Given the description of an element on the screen output the (x, y) to click on. 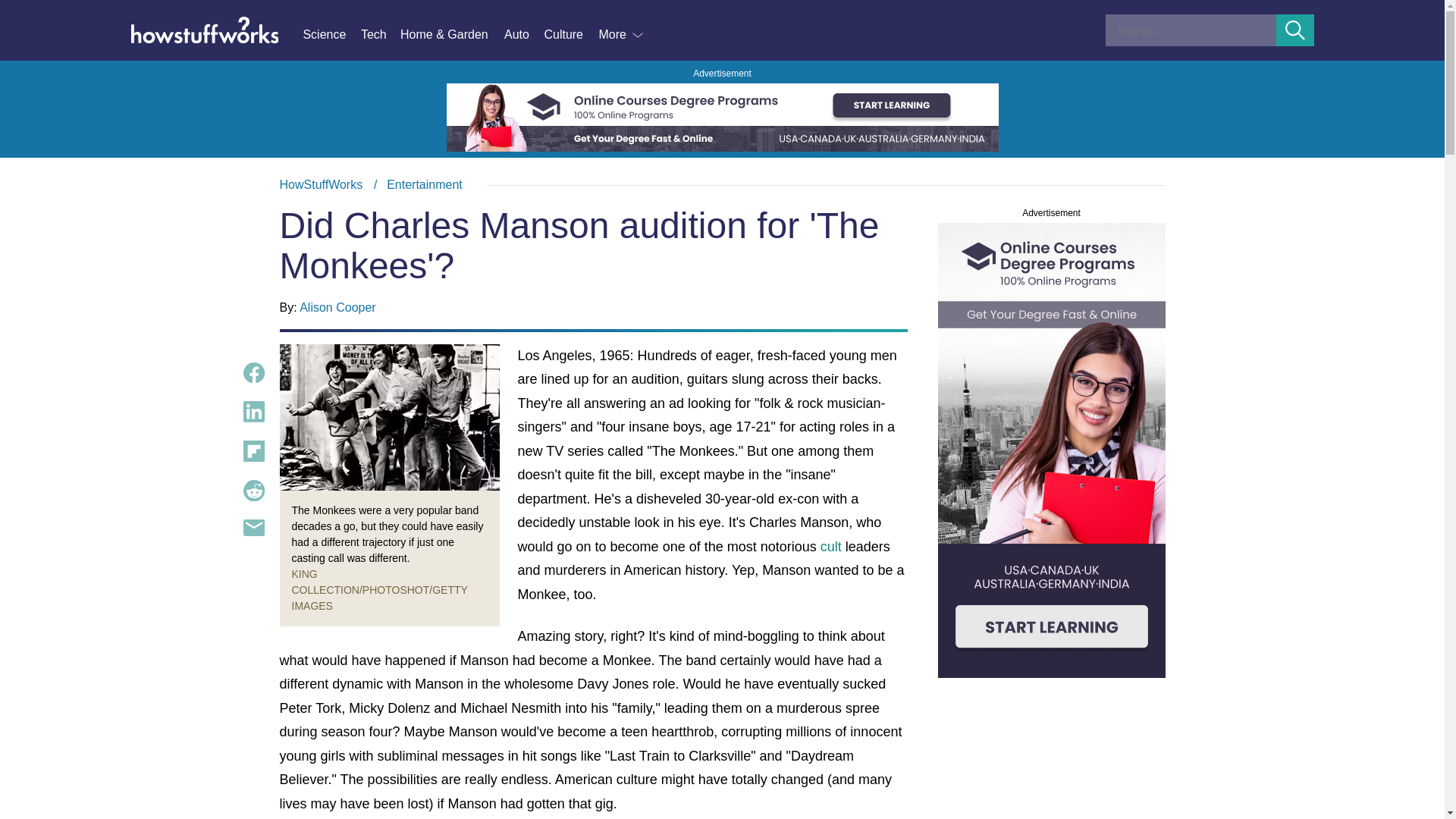
Share Content via Email (253, 527)
Share Content on Flipboard (253, 450)
Auto (523, 34)
Tech (380, 34)
Share Content on LinkedIn (253, 411)
Share Content on Facebook (253, 372)
Share Content on Reddit (253, 490)
Alison Cooper (337, 307)
Entertainment (425, 184)
Science (330, 34)
